Given the description of an element on the screen output the (x, y) to click on. 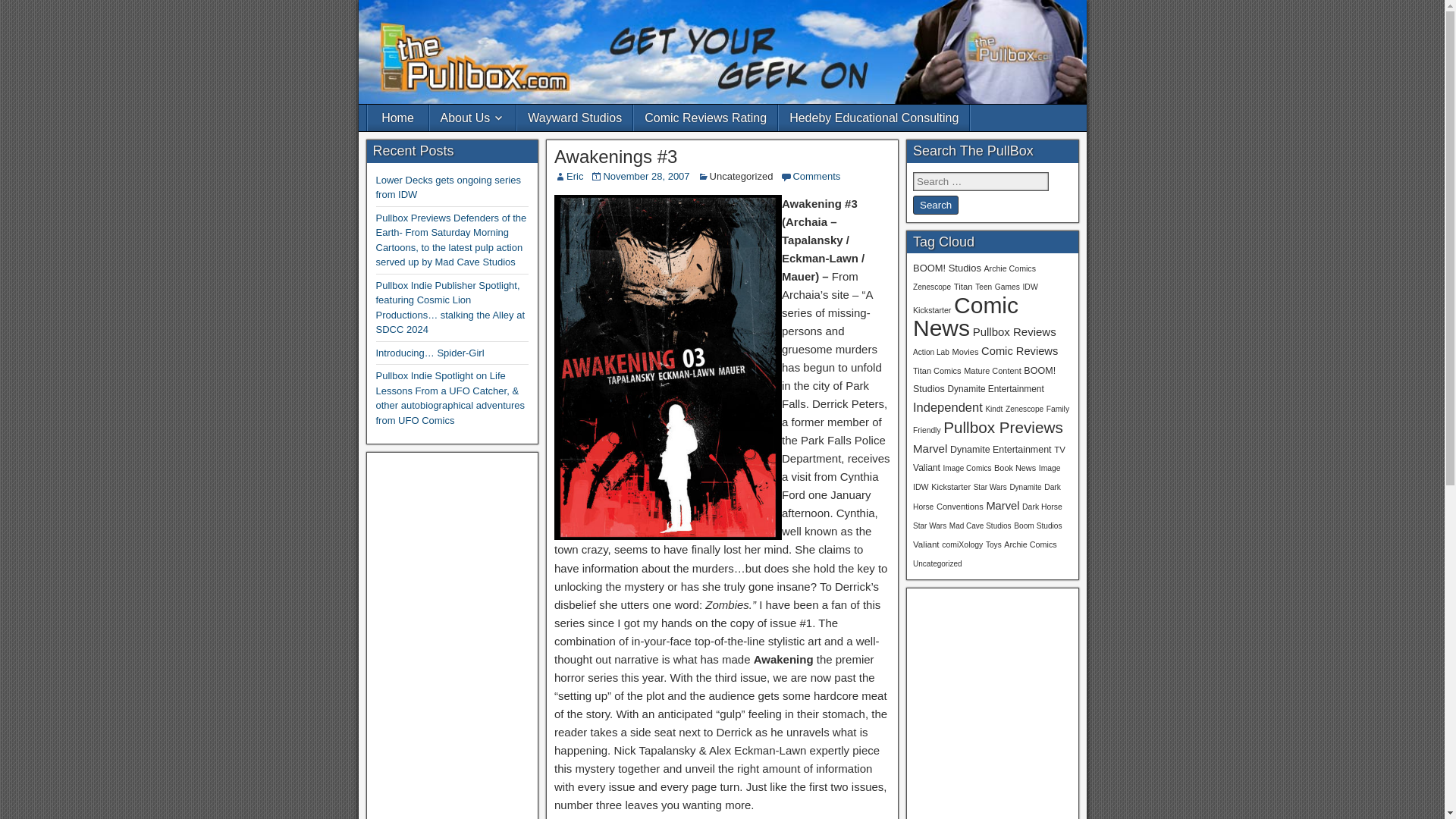
Search (935, 204)
Hedeby Educational Consulting (873, 117)
November 28, 2007 (645, 175)
Home (397, 117)
Search (935, 204)
Comments (816, 175)
Wayward Studios (573, 117)
Eric (574, 175)
Search (935, 204)
Comic Reviews Rating (705, 117)
About Us (472, 117)
Lower Decks gets ongoing series from IDW (448, 187)
